Given the description of an element on the screen output the (x, y) to click on. 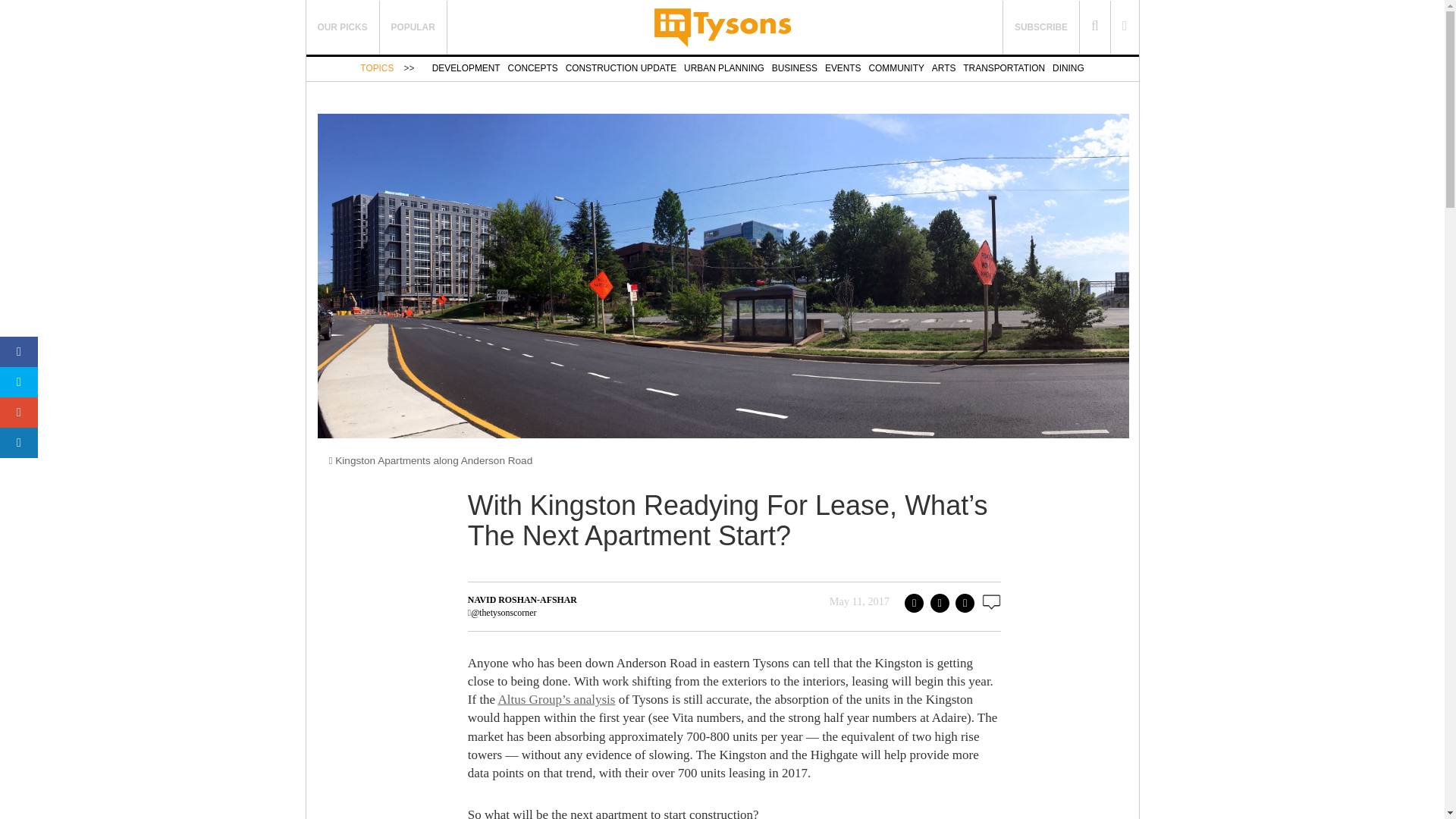
DINING (1068, 68)
POPULAR (413, 27)
SUBSCRIBE (1040, 27)
DEVELOPMENT (466, 68)
TRANSPORTATION (1003, 68)
COMMUNITY (896, 68)
URBAN PLANNING (724, 68)
BUSINESS (793, 68)
CONSTRUCTION UPDATE (621, 68)
EVENTS (843, 68)
NAVID ROSHAN-AFSHAR (521, 599)
ARTS (943, 68)
CONCEPTS (532, 68)
OUR PICKS (342, 27)
